Given the description of an element on the screen output the (x, y) to click on. 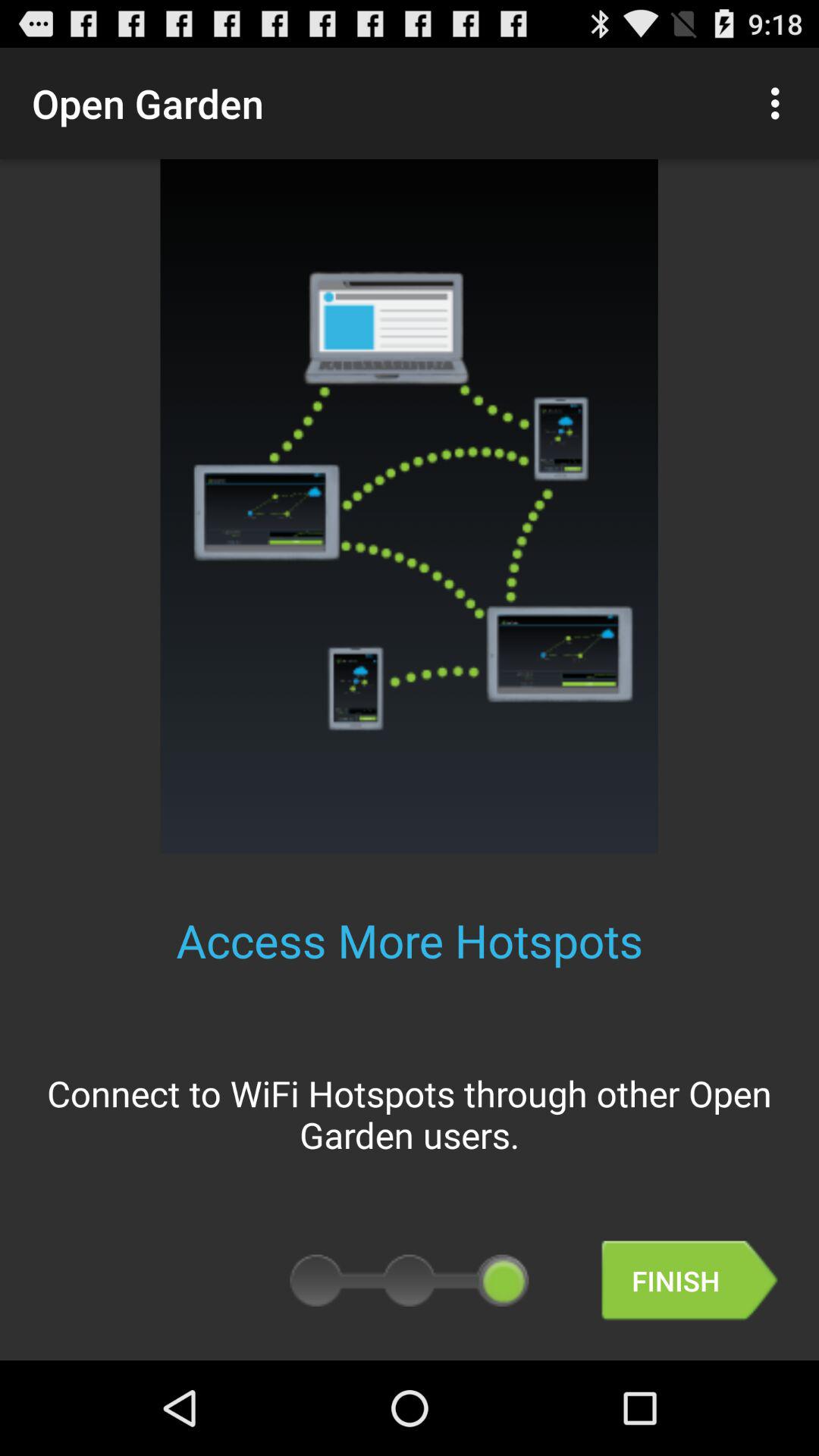
open finish at the bottom right corner (689, 1280)
